Given the description of an element on the screen output the (x, y) to click on. 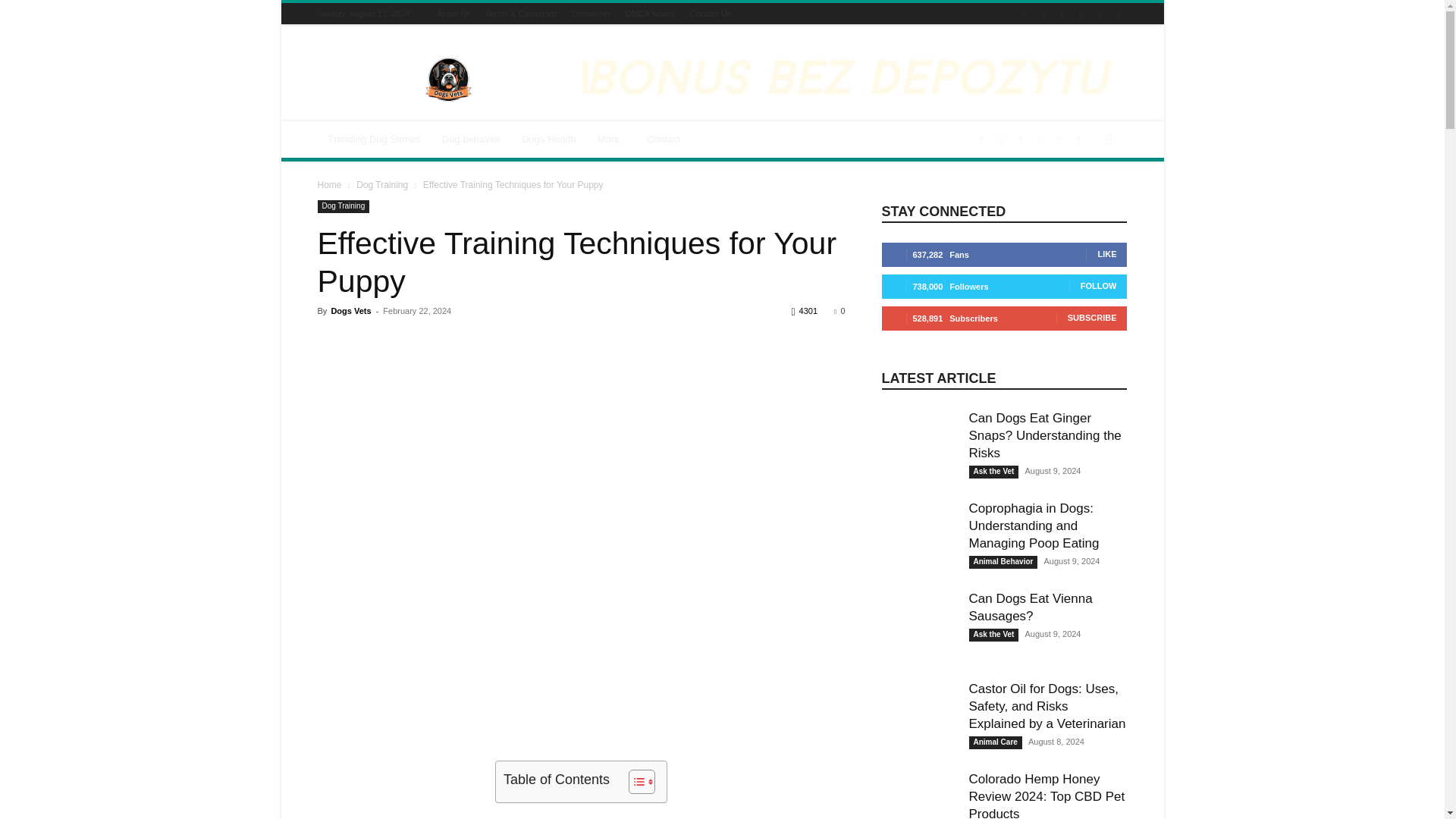
Contact Us (710, 13)
About Us (453, 13)
DMCA Notice (650, 13)
Disclaimer (591, 13)
